Given the description of an element on the screen output the (x, y) to click on. 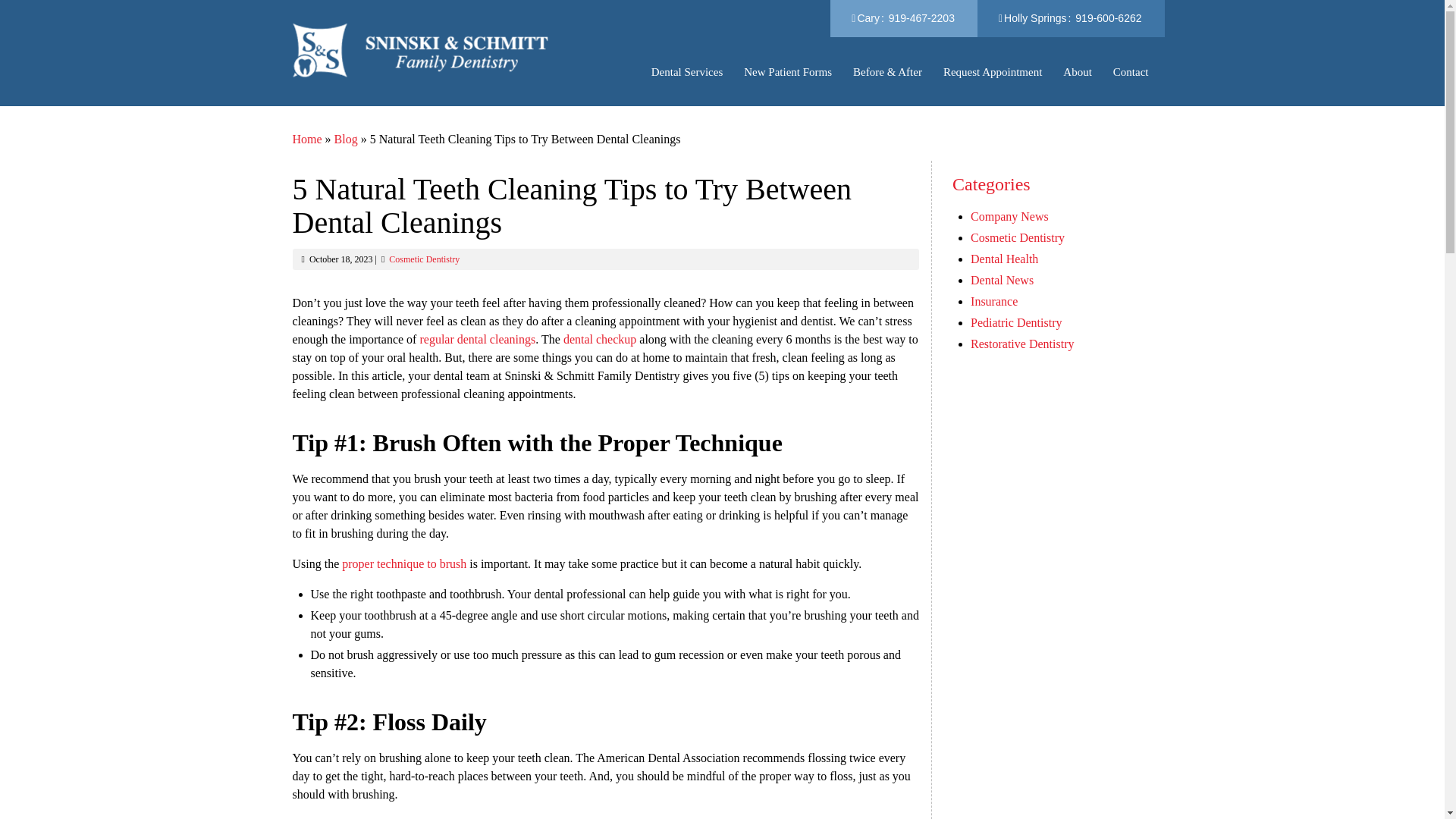
Home (306, 138)
Contact (1131, 71)
New Patient Forms (787, 71)
919-600-6262 (1108, 17)
Blog (346, 138)
Company News (1009, 215)
dental checkup (601, 338)
Dental Services (686, 71)
Holly Springs (1035, 17)
Request Appointment (992, 71)
